Given the description of an element on the screen output the (x, y) to click on. 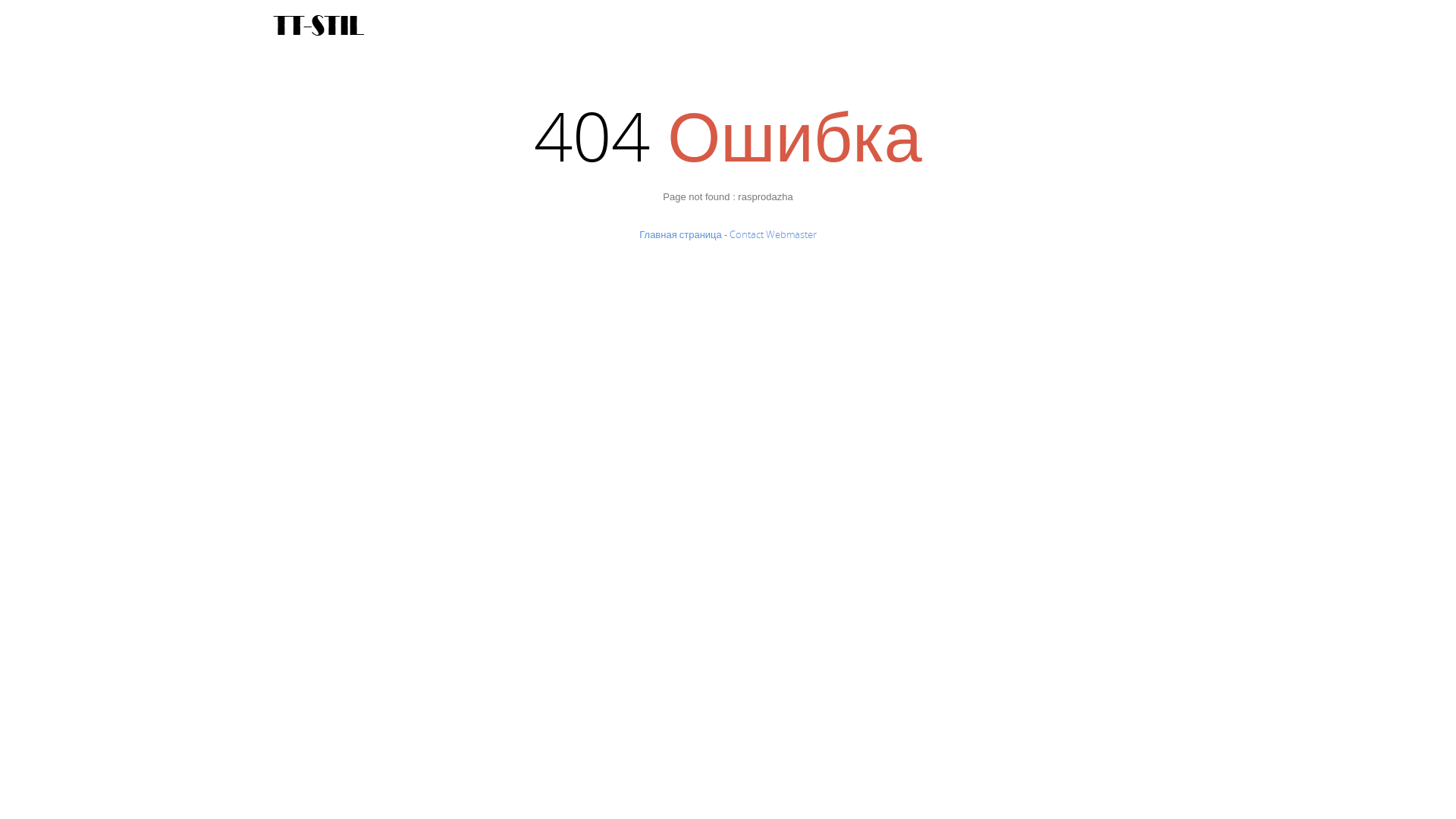
Contact Webmaster Element type: text (772, 234)
